Given the description of an element on the screen output the (x, y) to click on. 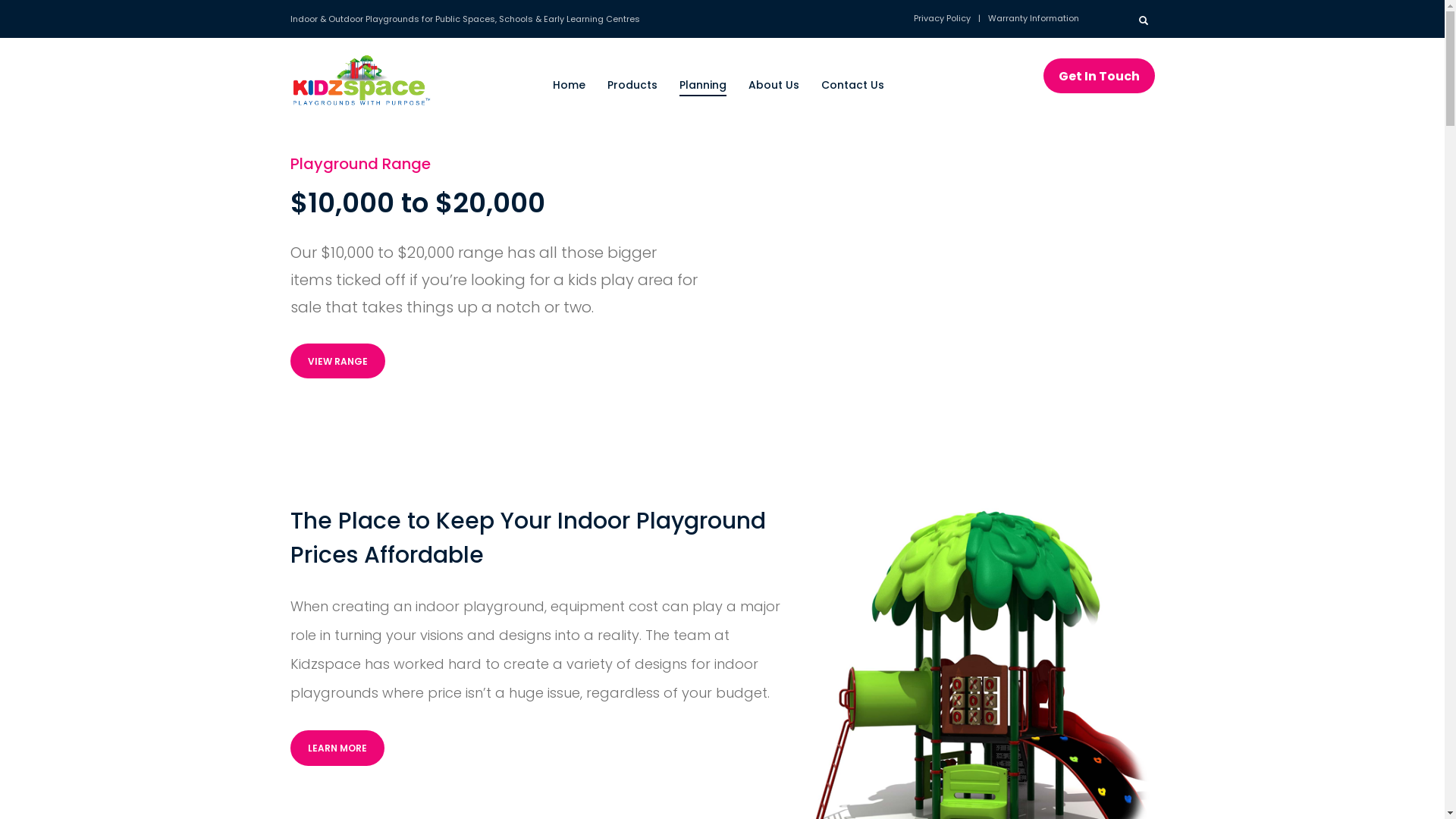
Products Element type: text (632, 84)
Contact Us Element type: text (852, 84)
LEARN MORE Element type: text (336, 747)
VIEW RANGE Element type: text (336, 360)
Privacy Policy Element type: text (941, 18)
Home Element type: text (568, 84)
Get In Touch Element type: text (1098, 75)
About Us Element type: text (773, 84)
Planning Element type: text (702, 84)
Warranty Information Element type: text (1028, 18)
